Given the description of an element on the screen output the (x, y) to click on. 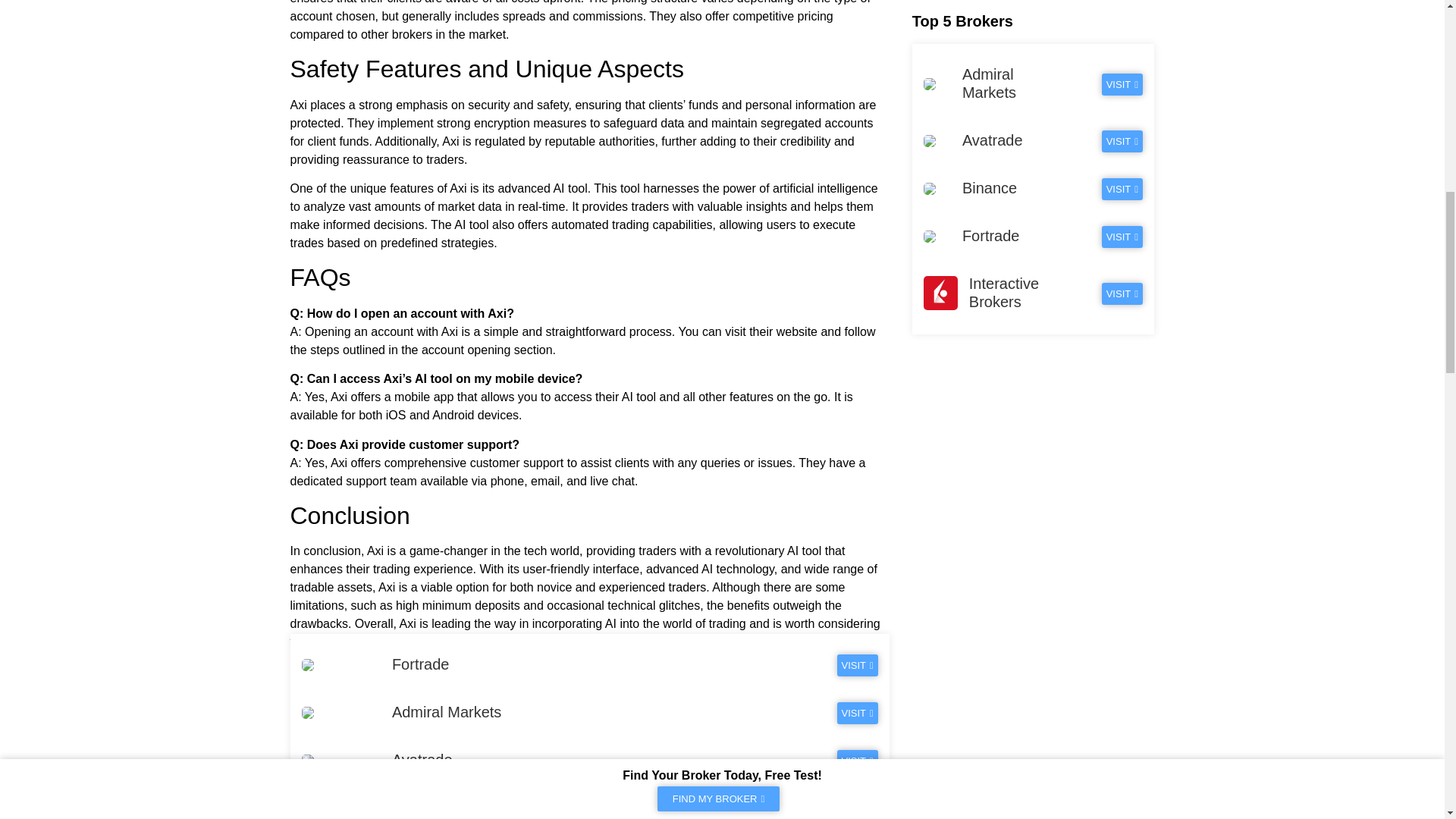
VISIT (857, 665)
VISIT (857, 712)
VISIT (857, 761)
VISIT (857, 808)
